Given the description of an element on the screen output the (x, y) to click on. 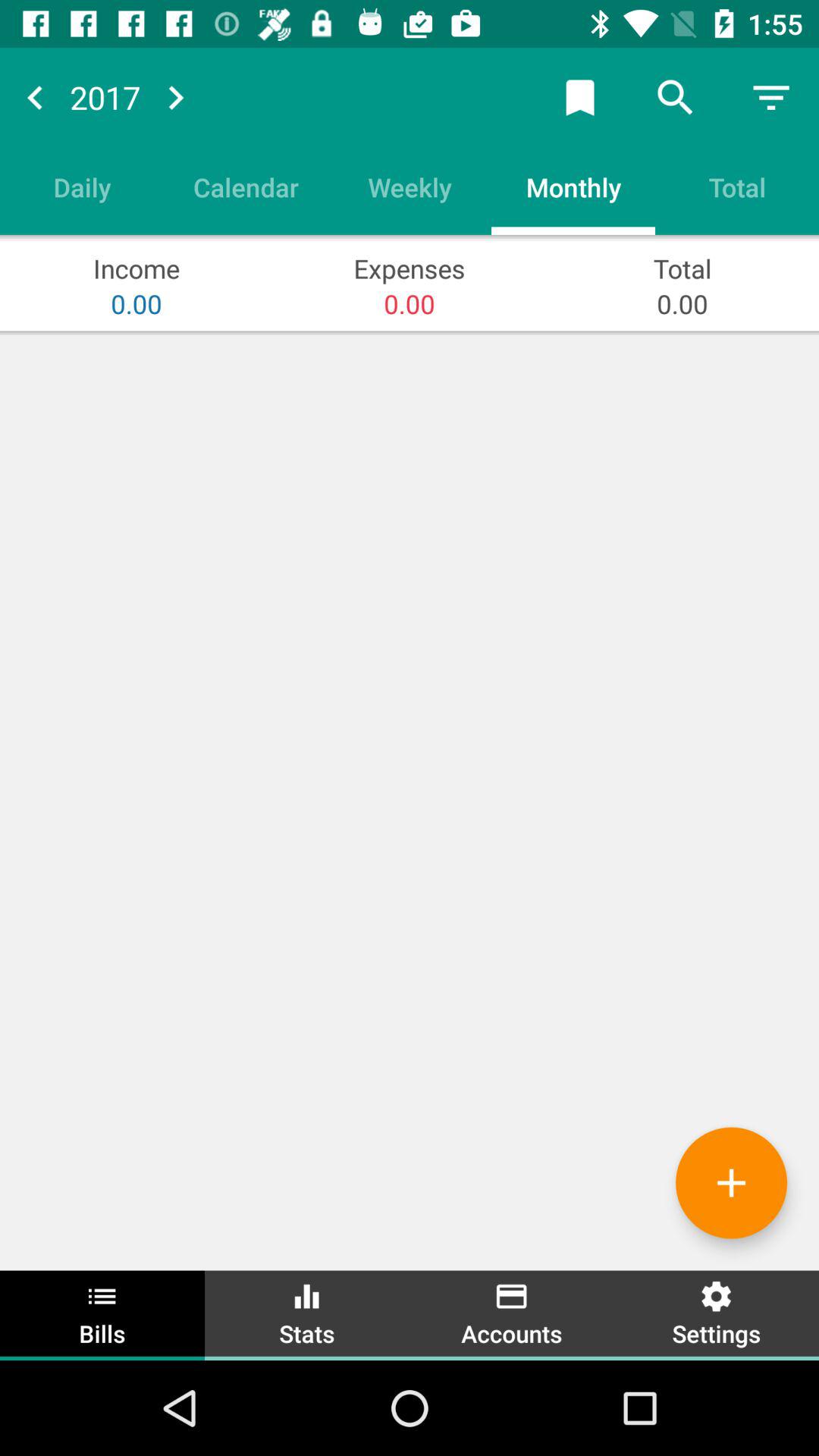
go to stats (306, 1313)
click weekly (409, 187)
select the number above the option daily (104, 97)
